Given the description of an element on the screen output the (x, y) to click on. 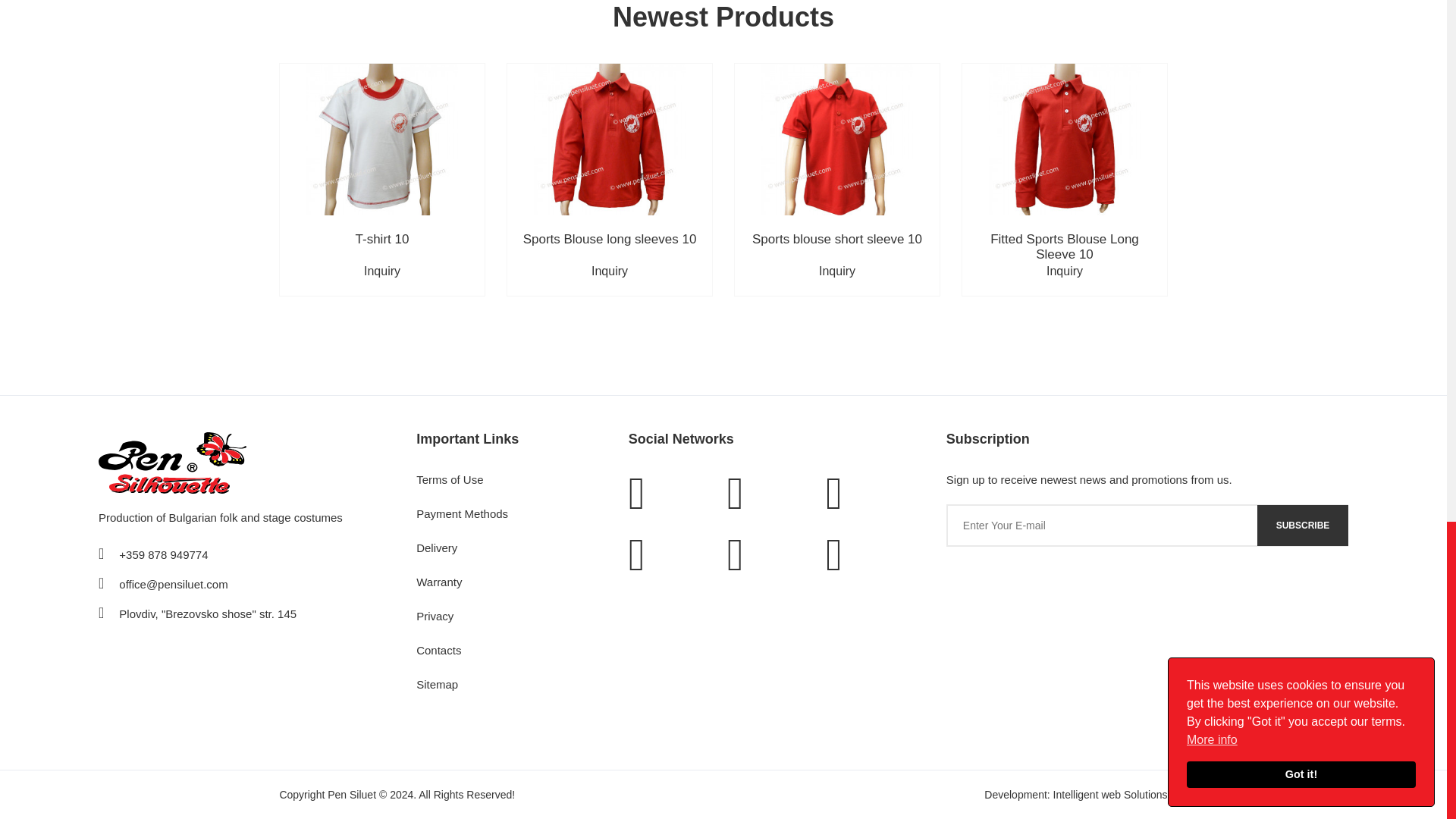
Subscribe (1302, 525)
